Given the description of an element on the screen output the (x, y) to click on. 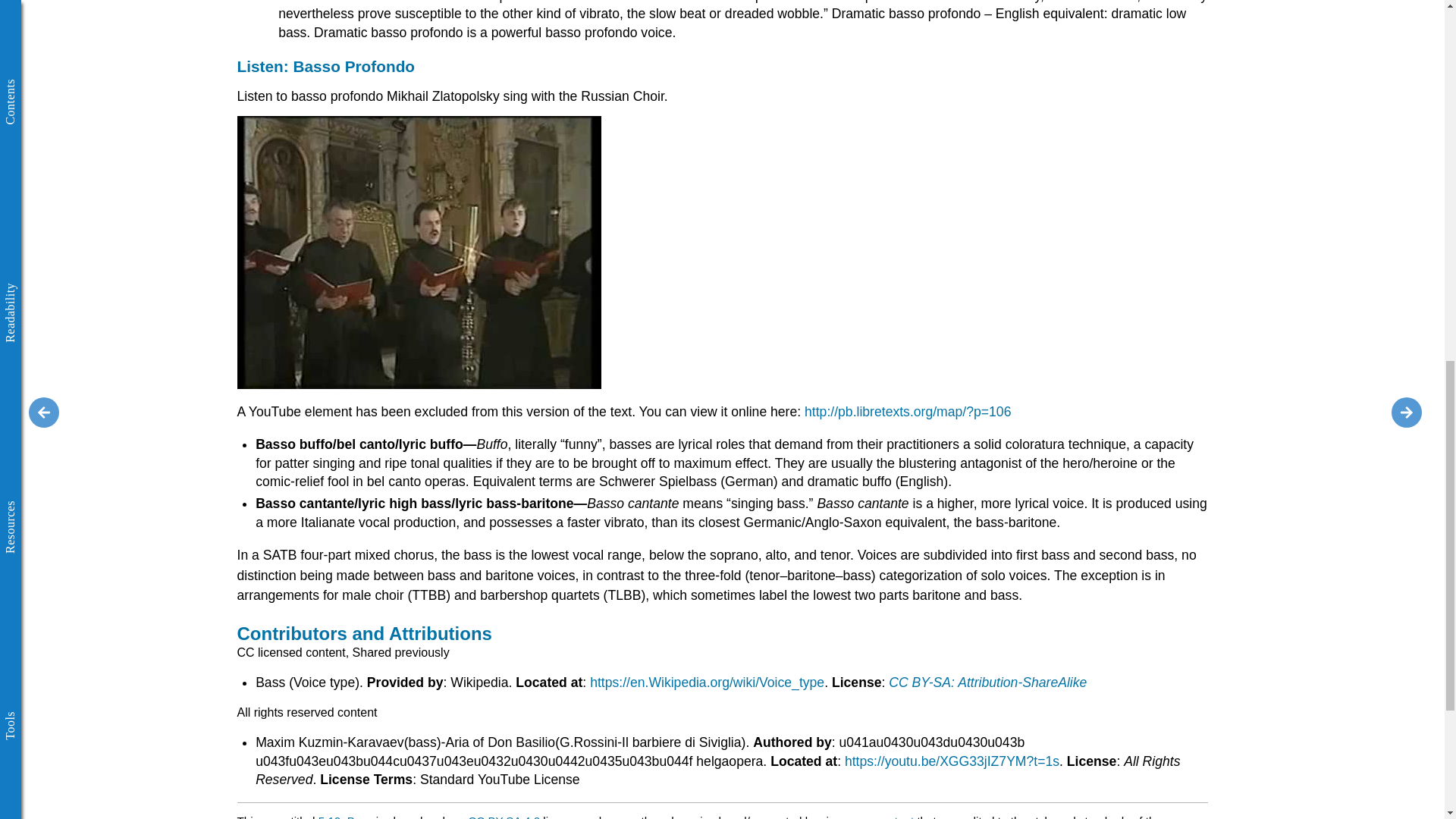
Russian Choir with Mikhail Zlatopolsky, Basso Profondo (417, 252)
